Given the description of an element on the screen output the (x, y) to click on. 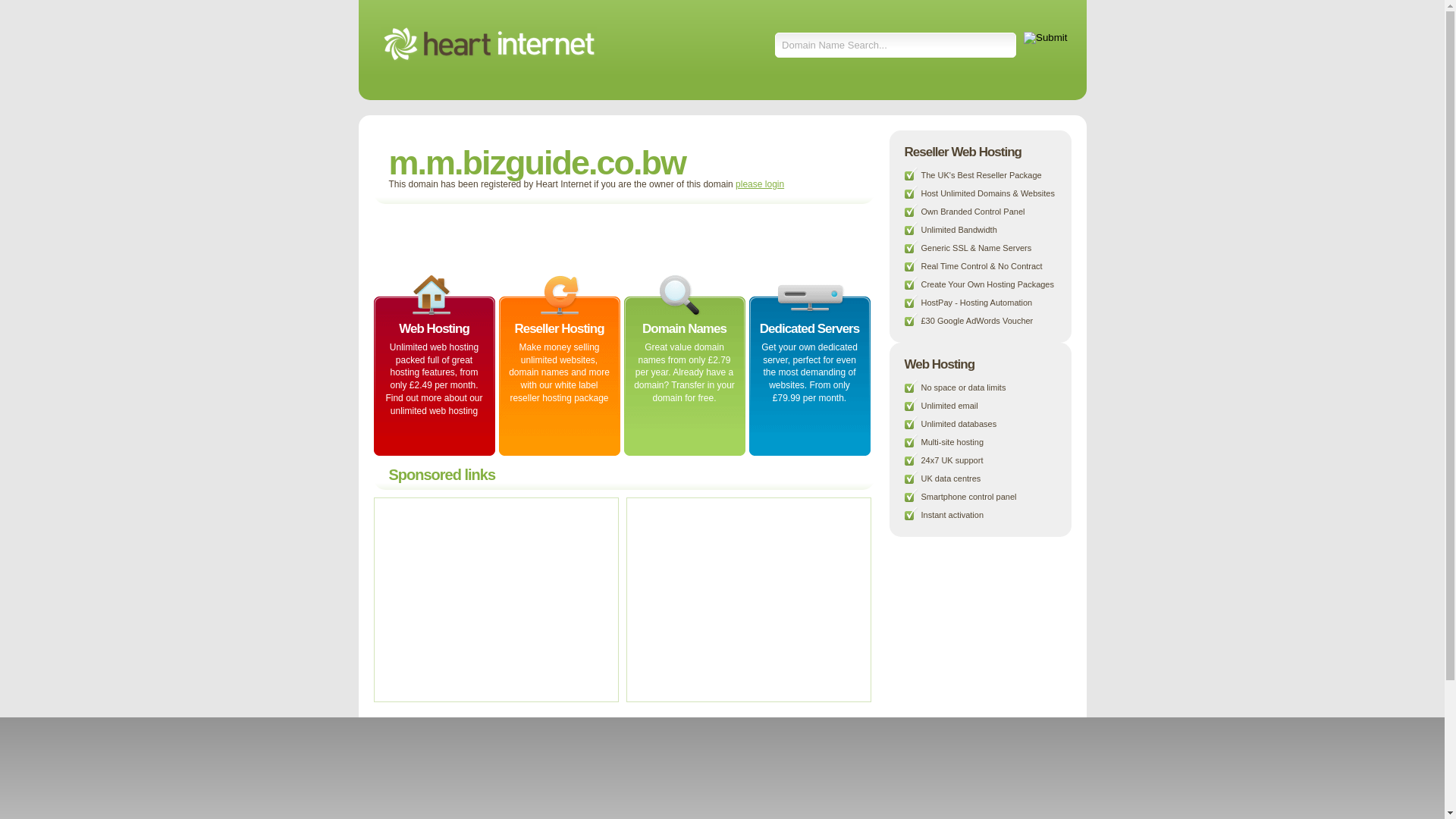
Advertisement Element type: hover (745, 598)
Advertisement Element type: hover (557, 237)
Domain Name Search... Element type: text (895, 44)
please login Element type: text (759, 183)
Advertisement Element type: hover (494, 598)
